Given the description of an element on the screen output the (x, y) to click on. 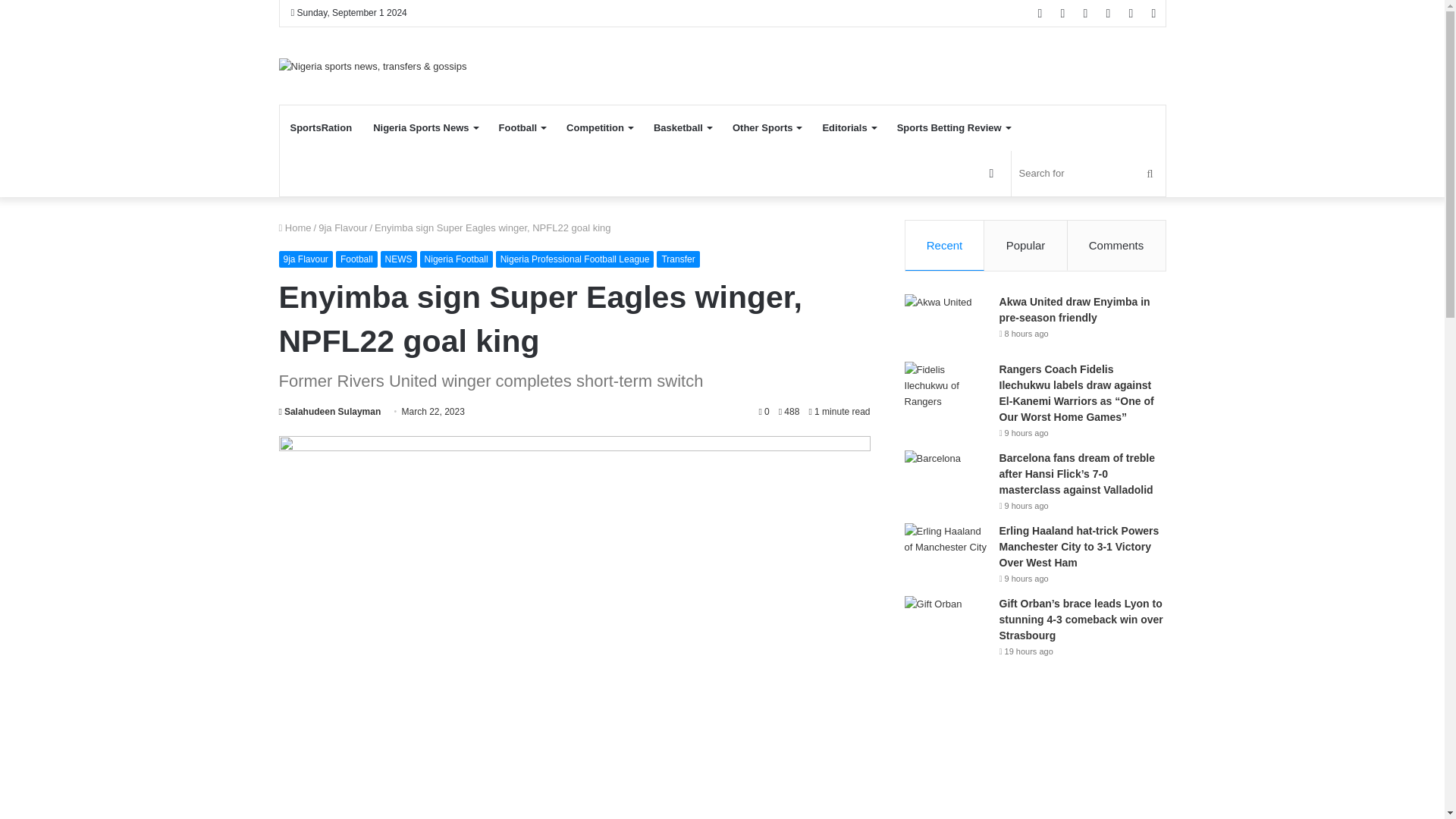
Nigeria Sports News (424, 127)
Football (521, 127)
SportsRation (320, 127)
Salahudeen Sulayman (330, 411)
Search for (1088, 173)
